Given the description of an element on the screen output the (x, y) to click on. 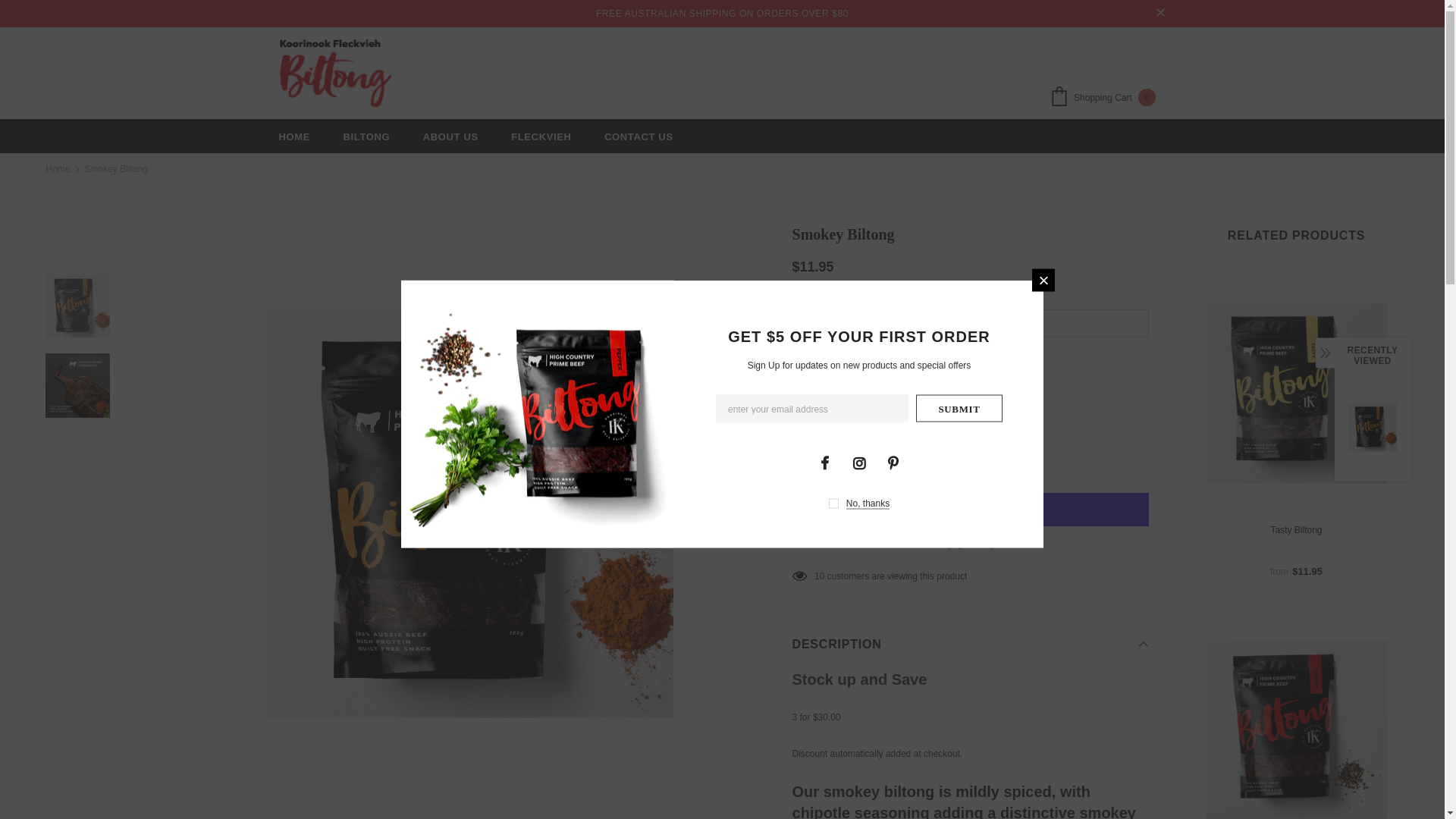
CONTACT US Element type: text (638, 136)
FLECKVIEH Element type: text (541, 136)
Close Element type: hover (1043, 279)
Add to Cart Element type: text (877, 460)
DESCRIPTION Element type: text (970, 643)
BILTONG Element type: text (365, 136)
close Element type: hover (1159, 13)
HOME Element type: text (294, 136)
Logo Element type: hover (335, 73)
ABOUT US Element type: text (450, 136)
Submit Element type: text (959, 407)
Pinterest Element type: hover (892, 461)
Instagram Element type: hover (858, 461)
Home Element type: text (57, 169)
Facebook Element type: hover (823, 461)
More payment options Element type: text (970, 543)
Shopping Cart 0 Element type: text (1106, 98)
Tasty Biltong Element type: text (1296, 529)
